Given the description of an element on the screen output the (x, y) to click on. 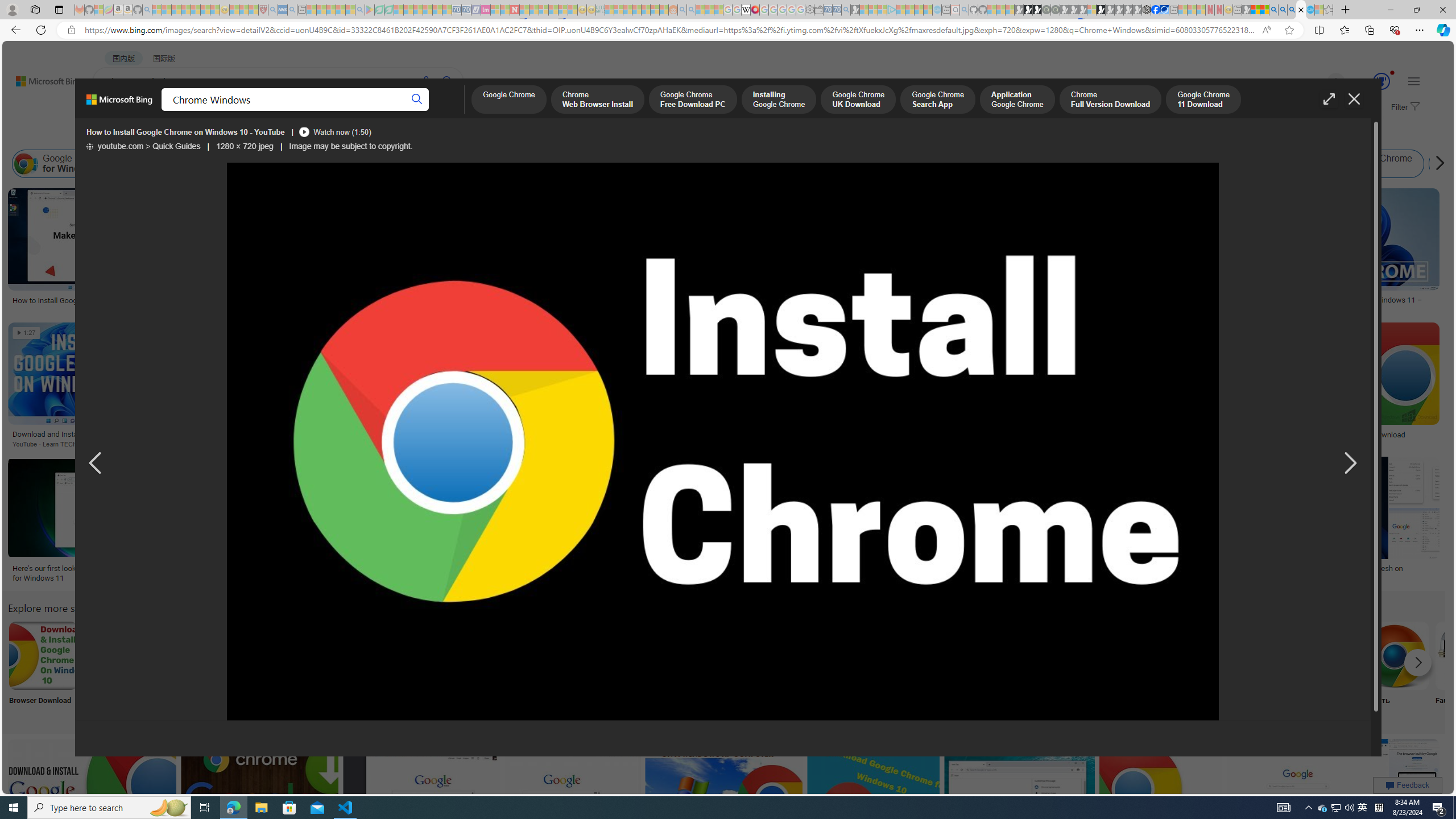
Google Chrome - Windows 10 Download (1354, 434)
2:21 (735, 466)
How to Install Google Chrome on Windows 11 (443, 434)
Image size (126, 135)
NCL Adult Asthma Inhaler Choice Guideline - Sleeping (282, 9)
Chrome Web Browser Install (597, 100)
Chrome OS Windows (959, 163)
Install chrome for windows 10 - radicallioSave (1180, 387)
